Given the description of an element on the screen output the (x, y) to click on. 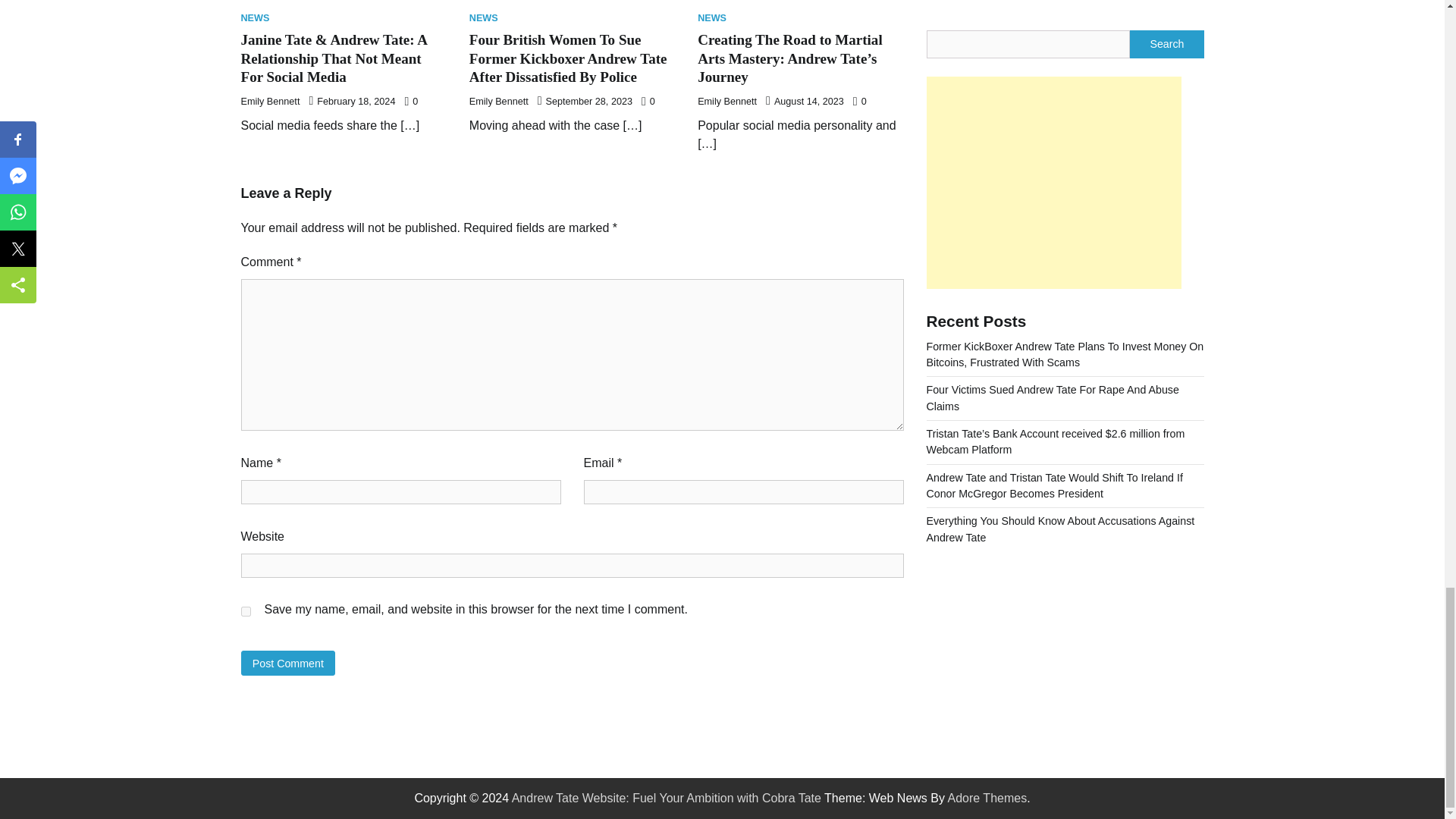
Emily Bennett (270, 101)
yes (245, 611)
NEWS (482, 18)
Post Comment (288, 662)
NEWS (711, 18)
Post Comment (288, 662)
NEWS (255, 18)
Emily Bennett (498, 101)
Emily Bennett (727, 101)
